Given the description of an element on the screen output the (x, y) to click on. 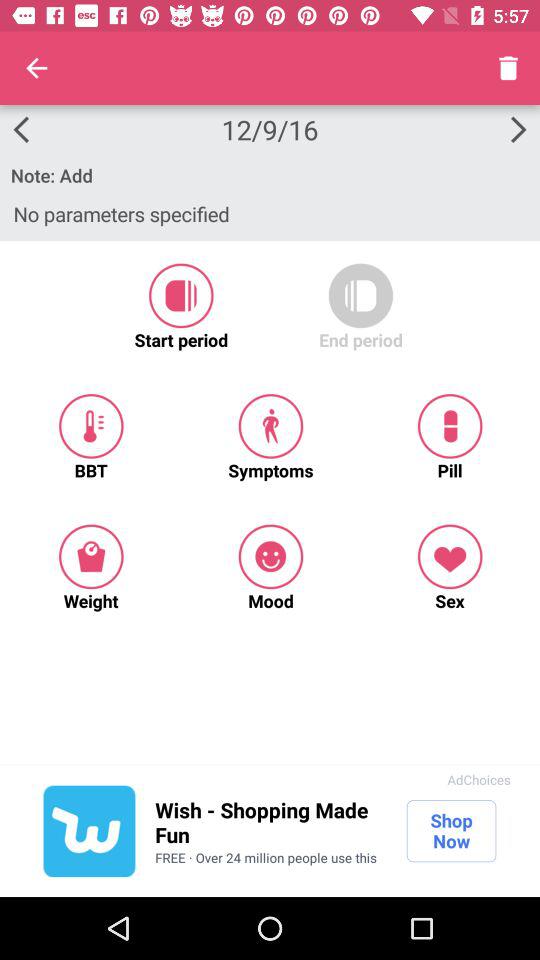
launch the icon below 12/9/16 item (269, 175)
